Given the description of an element on the screen output the (x, y) to click on. 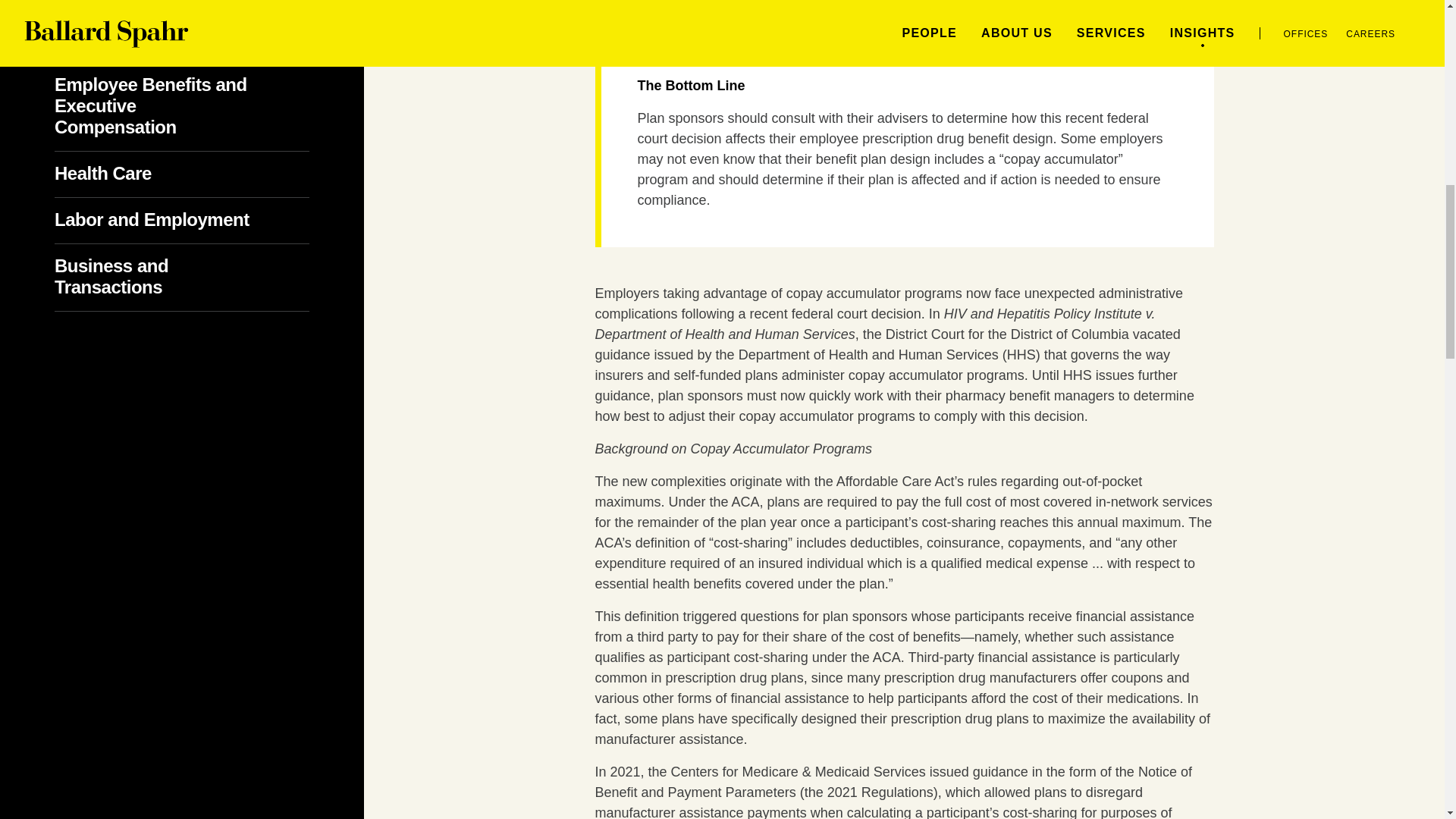
Employee Benefits and Executive Compensation (151, 105)
Business and Transactions (133, 276)
Health Care (128, 172)
Labor and Employment (177, 219)
